Given the description of an element on the screen output the (x, y) to click on. 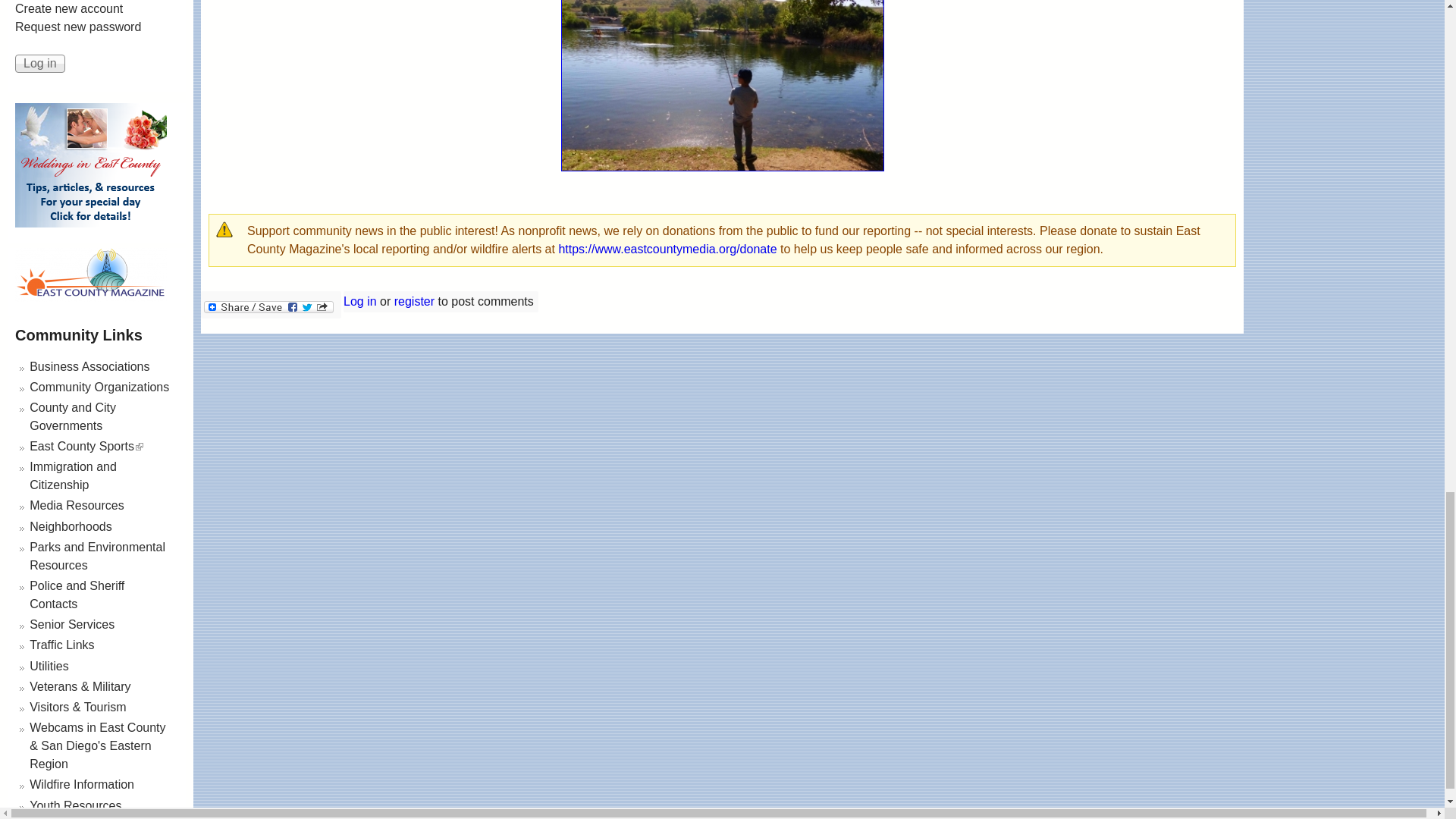
Log in (39, 63)
